Given the description of an element on the screen output the (x, y) to click on. 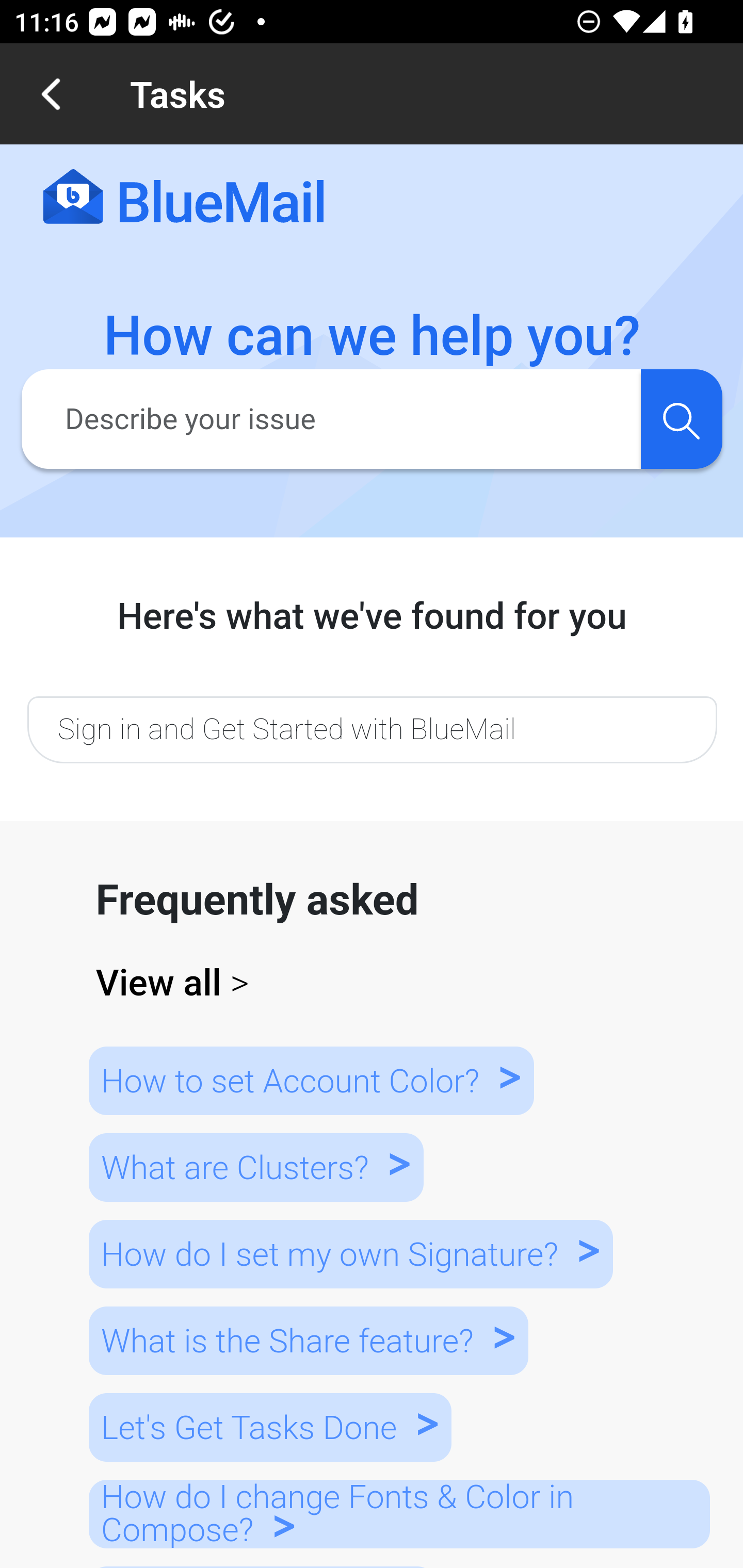
Navigate up (50, 93)
BlueMail Logo (184, 197)
How can we help you? (372, 336)
search (680, 418)
Sign in and Get Started with BlueMail (371, 728)
View all> (372, 982)
How to set Account Color?> (310, 1080)
What are Clusters?> (255, 1166)
How do I set my own Signature?> (349, 1253)
What is the Share feature?> (307, 1340)
Let's Get Tasks Done> (269, 1427)
How do I change Fonts & Color in Compose?> (398, 1513)
